Given the description of an element on the screen output the (x, y) to click on. 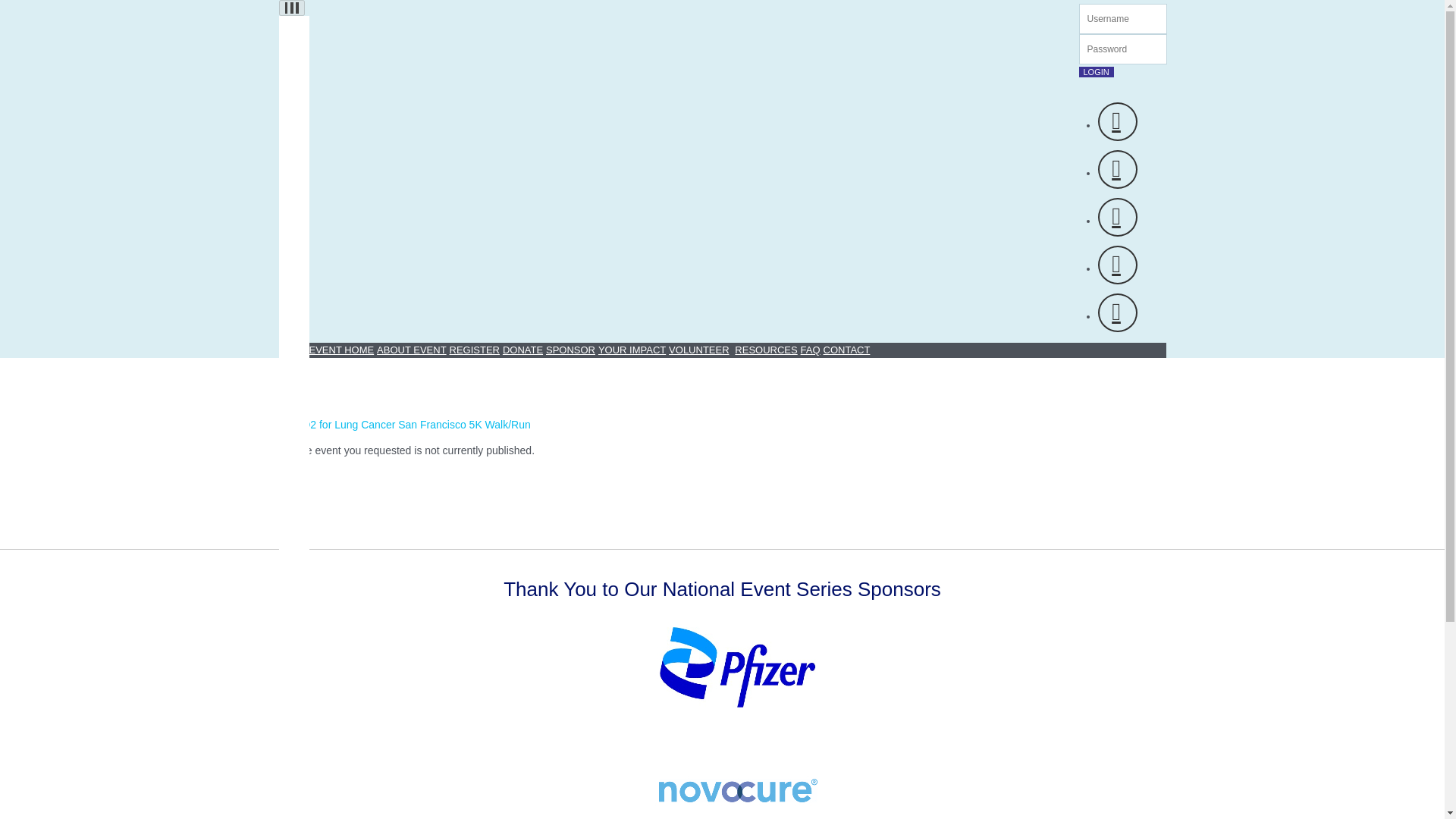
YOUR IMPACT (631, 349)
CONTACT (847, 349)
LOGIN (1095, 71)
ABOUT EVENT (411, 349)
REGISTER (474, 349)
FAQ (810, 349)
LinkedIn (1117, 169)
Facebook (1117, 121)
DONATE (292, 7)
VOLUNTEER (522, 349)
Twitter (698, 349)
SPONSOR (1117, 217)
YouTube (570, 349)
RESOURCES (1117, 264)
